Given the description of an element on the screen output the (x, y) to click on. 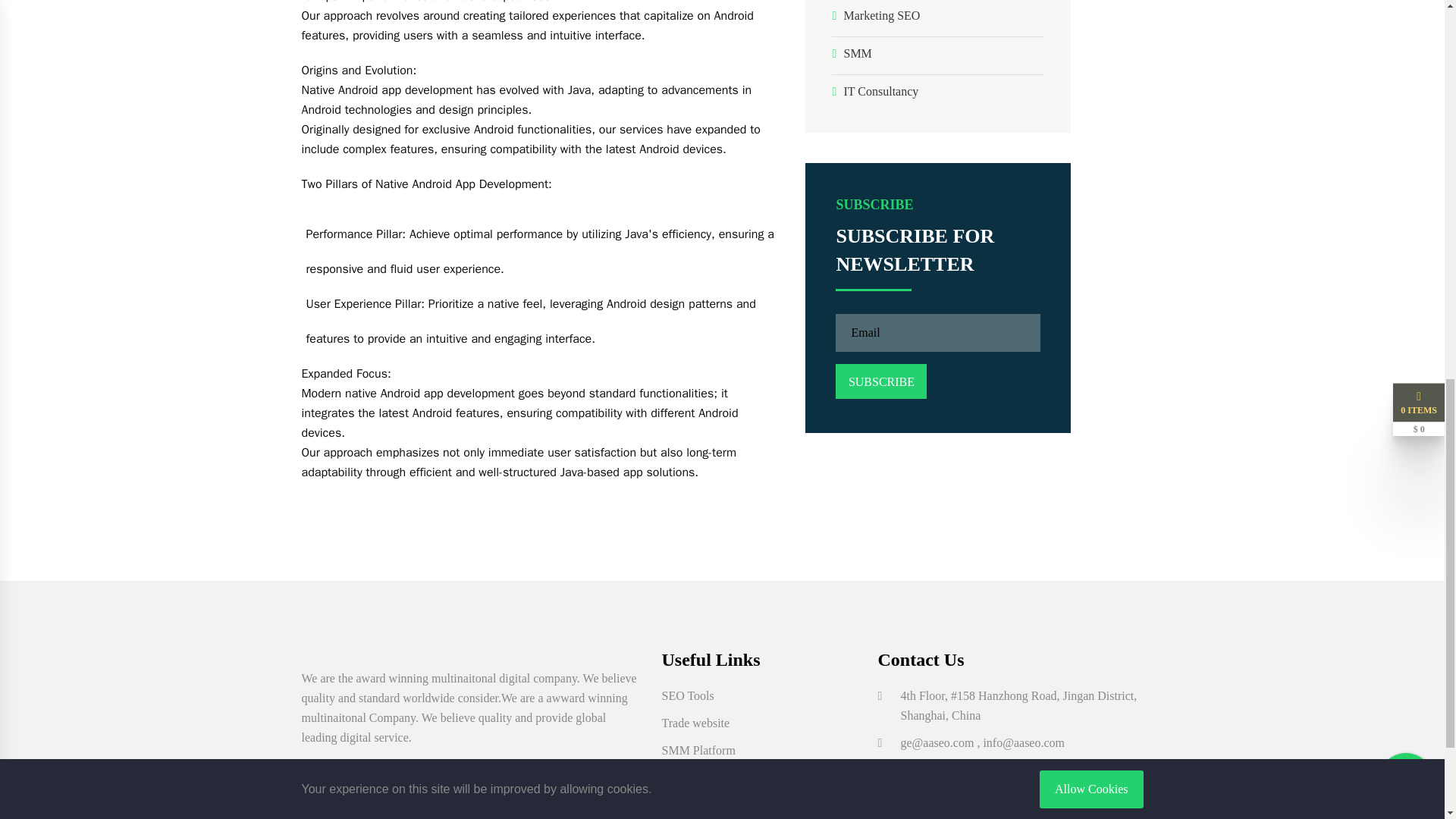
Subscribe (880, 380)
